Given the description of an element on the screen output the (x, y) to click on. 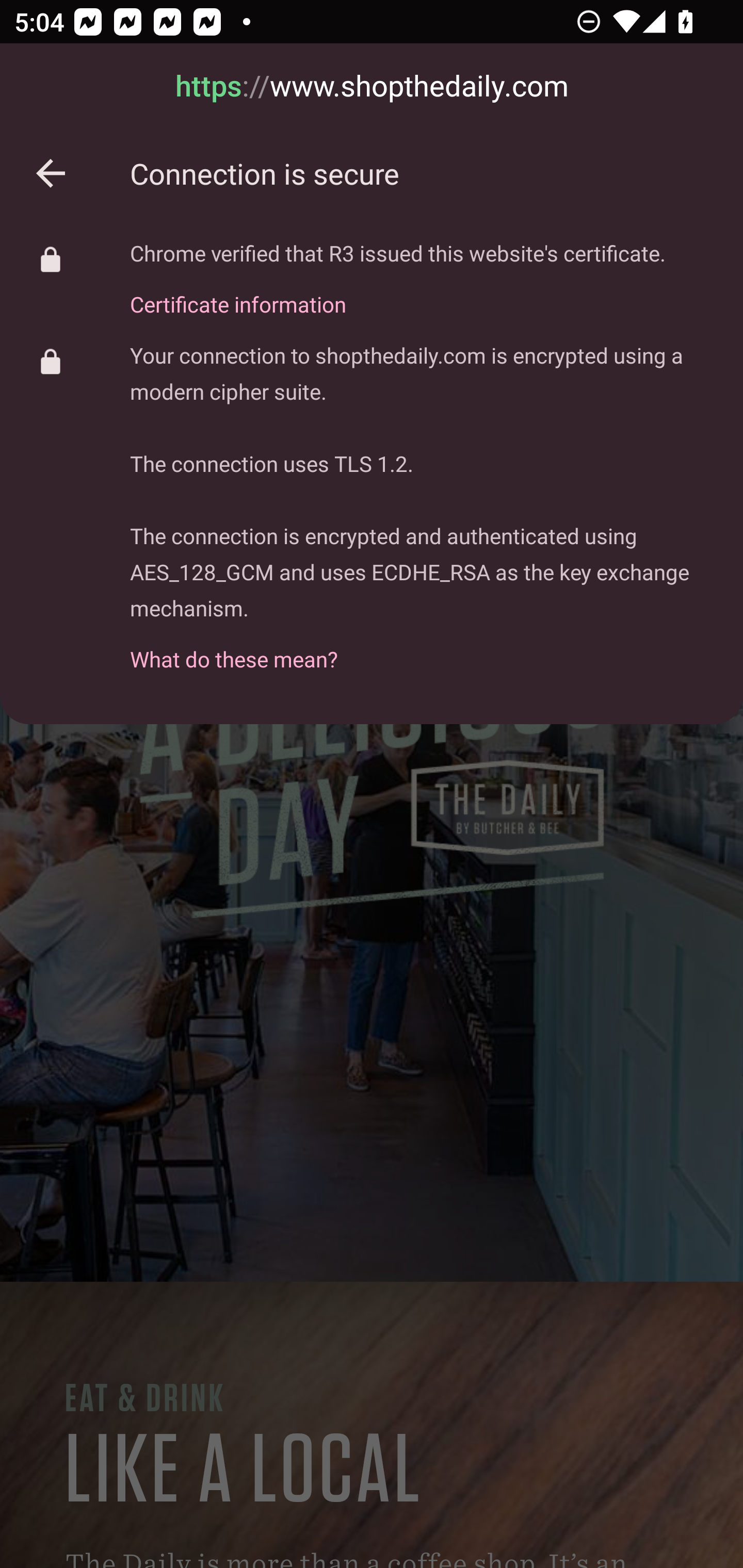
https://www.shopthedaily.com (371, 86)
Back (50, 173)
Certificate information (398, 293)
What do these mean? (422, 648)
